Given the description of an element on the screen output the (x, y) to click on. 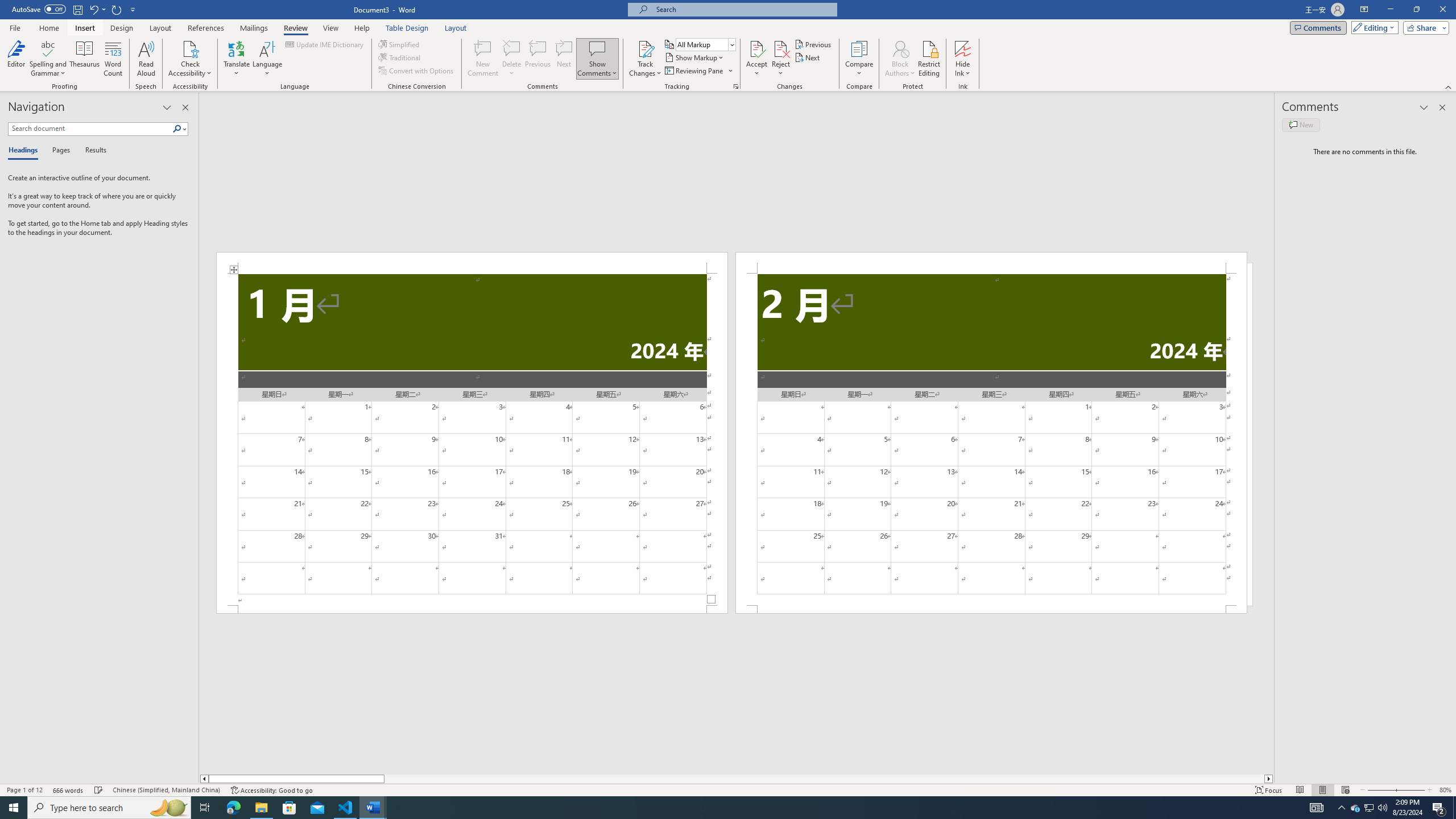
Page Number Page 1 of 12 (24, 790)
Restrict Editing (929, 58)
Track Changes (644, 58)
Language (267, 58)
Hide Ink (962, 58)
Show Markup (695, 56)
Previous (813, 44)
Check Accessibility (189, 58)
Spelling and Grammar (48, 58)
Block Authors (900, 48)
